Given the description of an element on the screen output the (x, y) to click on. 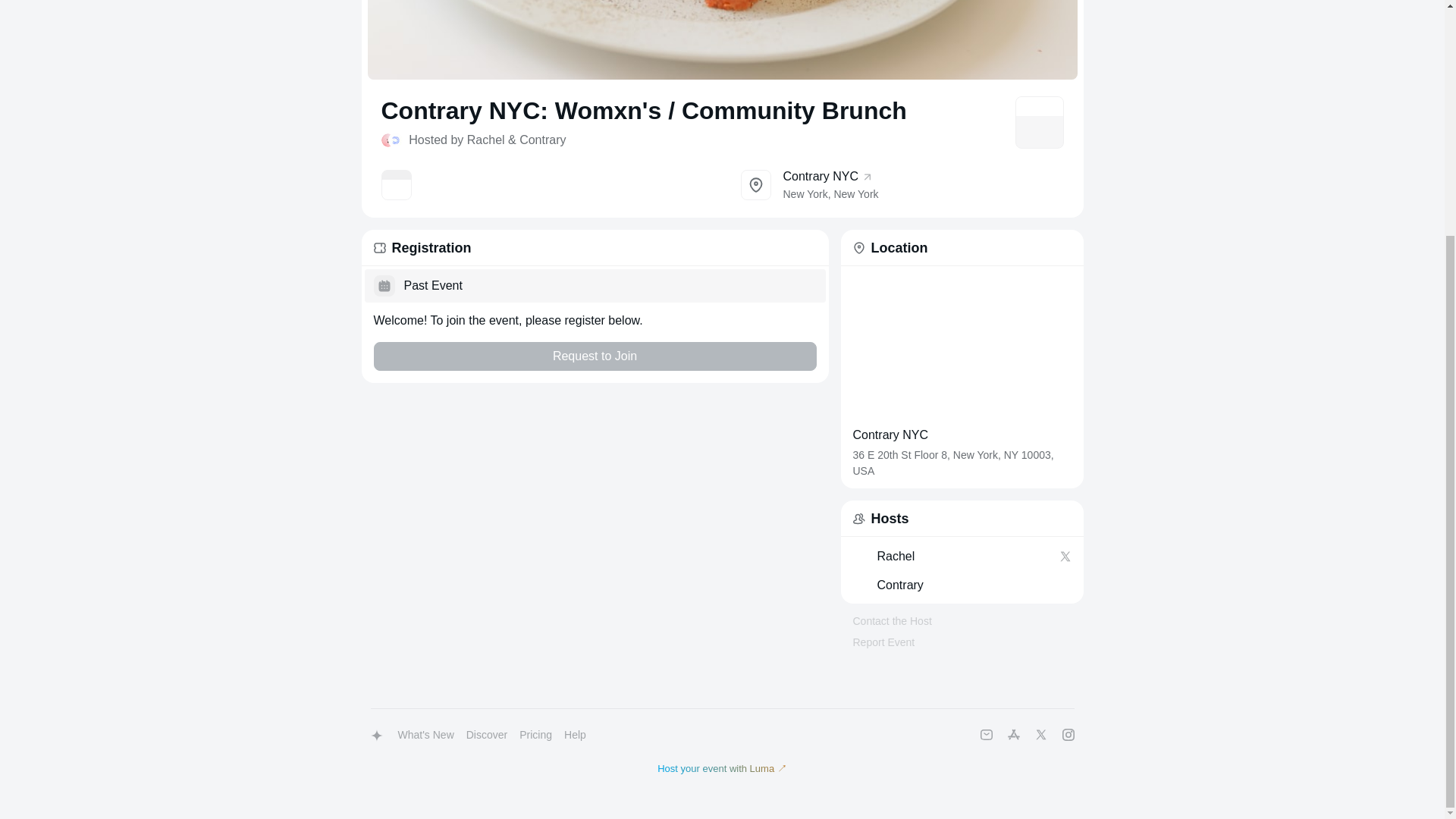
Discover (486, 735)
Rachel (900, 184)
What's New (951, 556)
Contact the Host (425, 735)
Report Event (891, 620)
Contrary (882, 642)
Pricing (960, 585)
Rachel (535, 735)
Request to Join (895, 556)
Help (593, 356)
Contrary (574, 735)
